Given the description of an element on the screen output the (x, y) to click on. 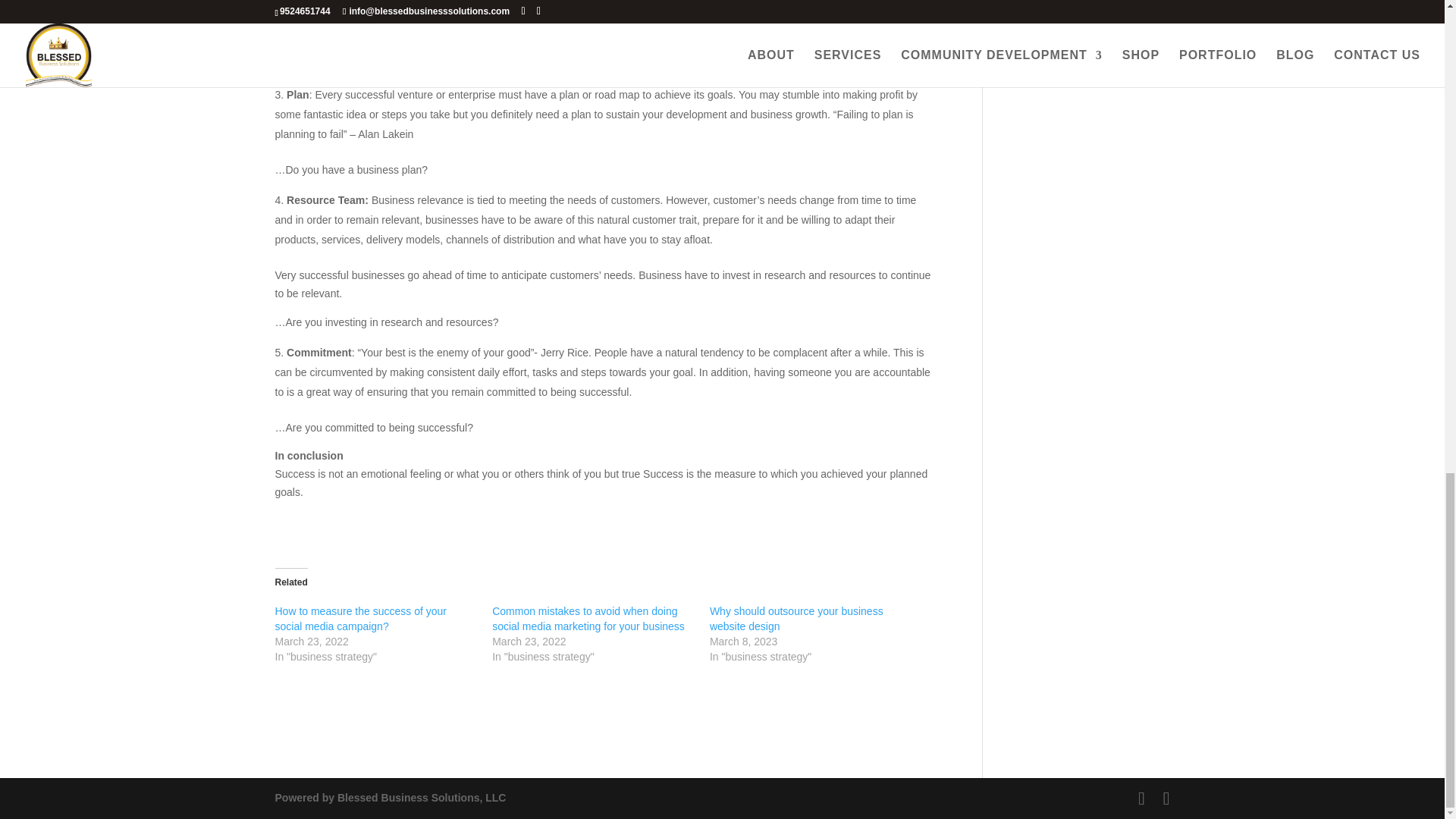
Powered by Blessed Business Solutions, LLC (390, 797)
How to measure the success of your social media campaign? (360, 618)
Why should outsource your business website design (796, 618)
How to measure the success of your social media campaign? (360, 618)
Why should outsource your business website design (796, 618)
